Given the description of an element on the screen output the (x, y) to click on. 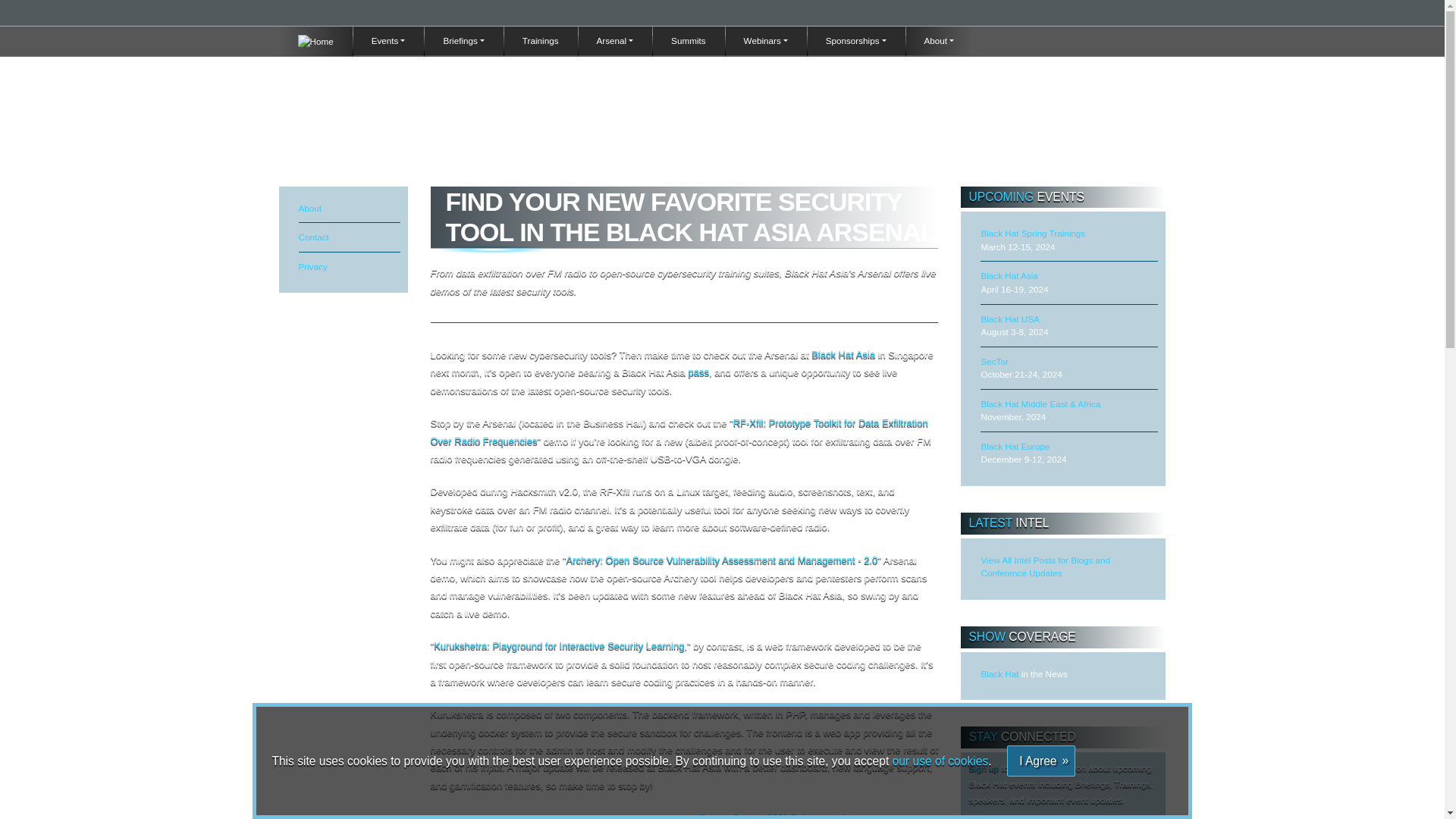
Informa (722, 11)
Flickr (1165, 42)
LinkedIn (1121, 42)
Sponsorships (855, 40)
Arsenal (615, 40)
Webinars (765, 40)
Summits (687, 40)
Trainings (540, 40)
Mailing List (1056, 42)
About (939, 40)
